Given the description of an element on the screen output the (x, y) to click on. 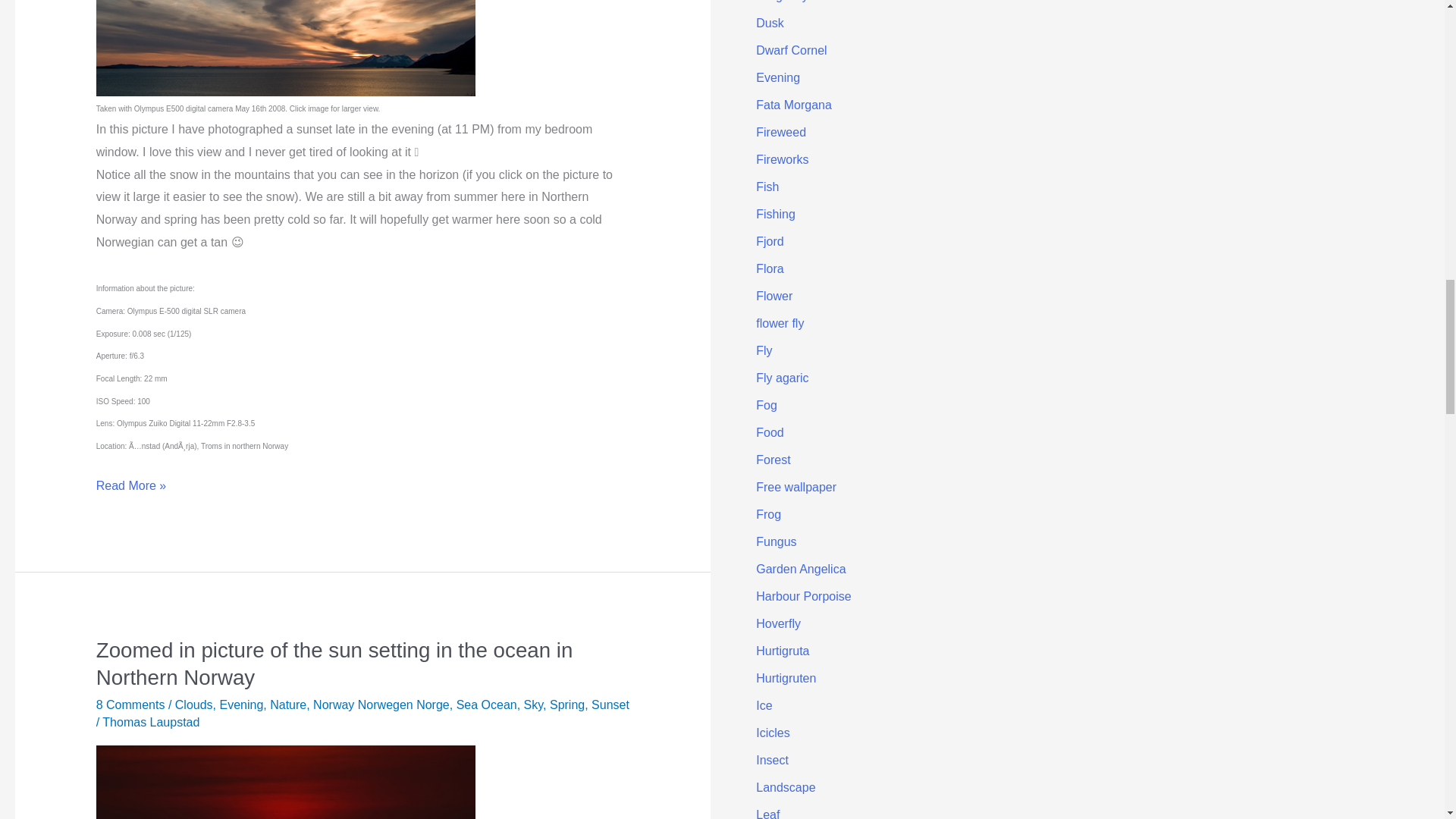
View all posts by Thomas Laupstad (150, 721)
